Given the description of an element on the screen output the (x, y) to click on. 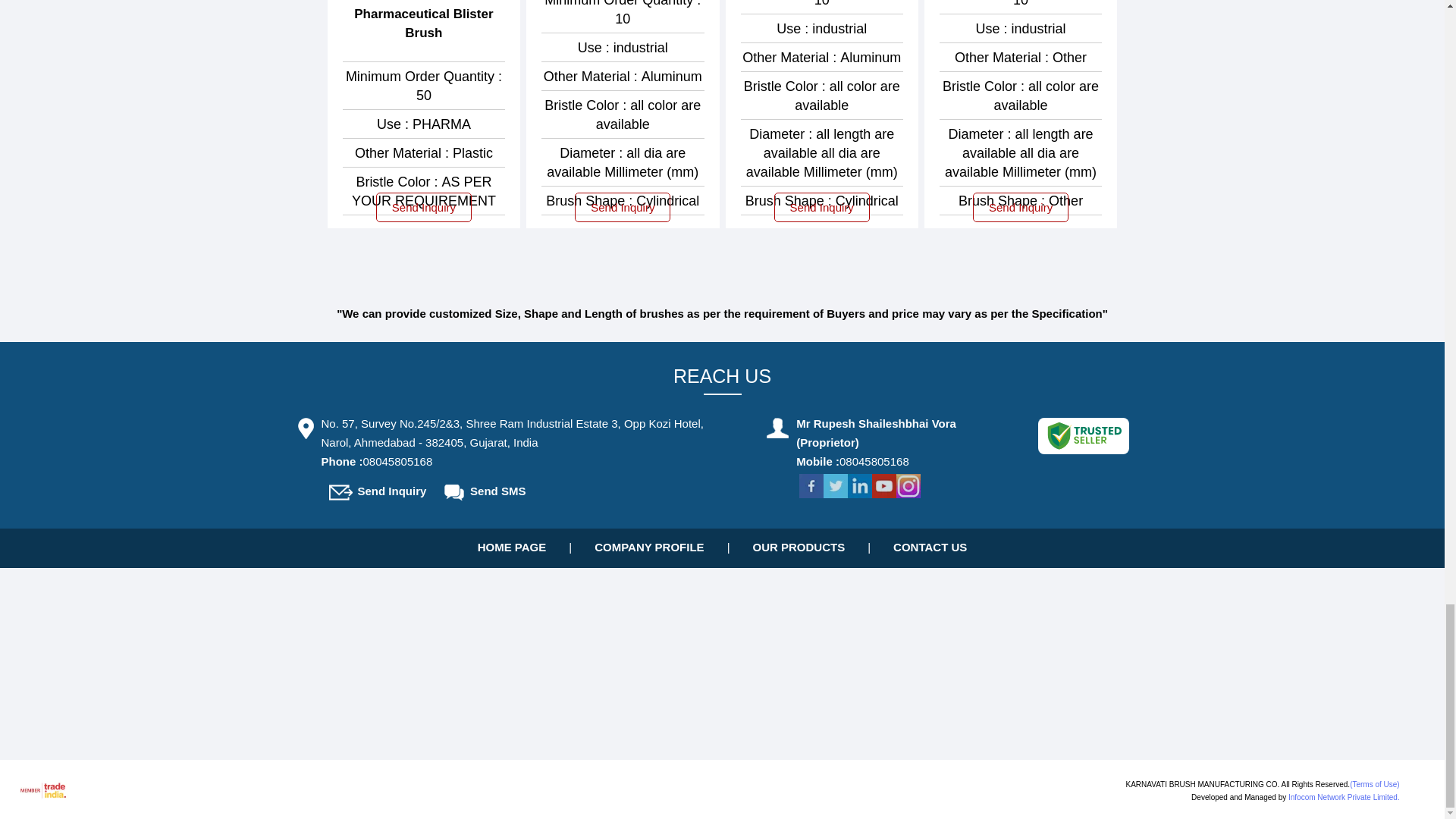
Instagram (908, 493)
You Tube (884, 493)
Key Personnel (778, 427)
Facebook (811, 493)
Send SMS (454, 492)
LinkedIn (859, 493)
Twitter (835, 493)
Send Inquiry (340, 492)
